Given the description of an element on the screen output the (x, y) to click on. 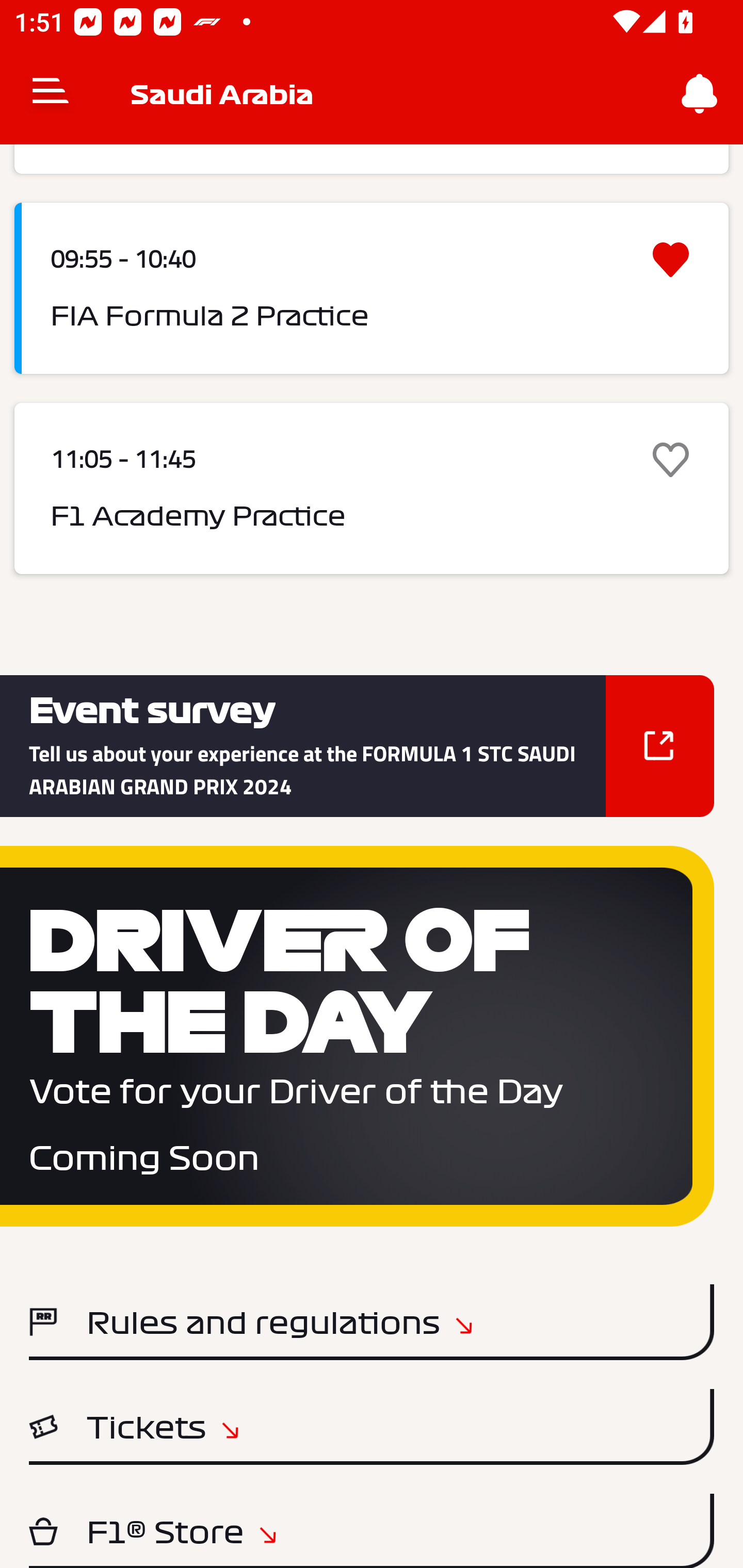
Navigate up (50, 93)
Notifications (699, 93)
09:55 - 10:40 FIA Formula 2 Practice (371, 287)
11:05 - 11:45 F1 Academy Practice (371, 487)
Rules and regulations (371, 1321)
Tickets (371, 1426)
F1® Store (371, 1531)
